Given the description of an element on the screen output the (x, y) to click on. 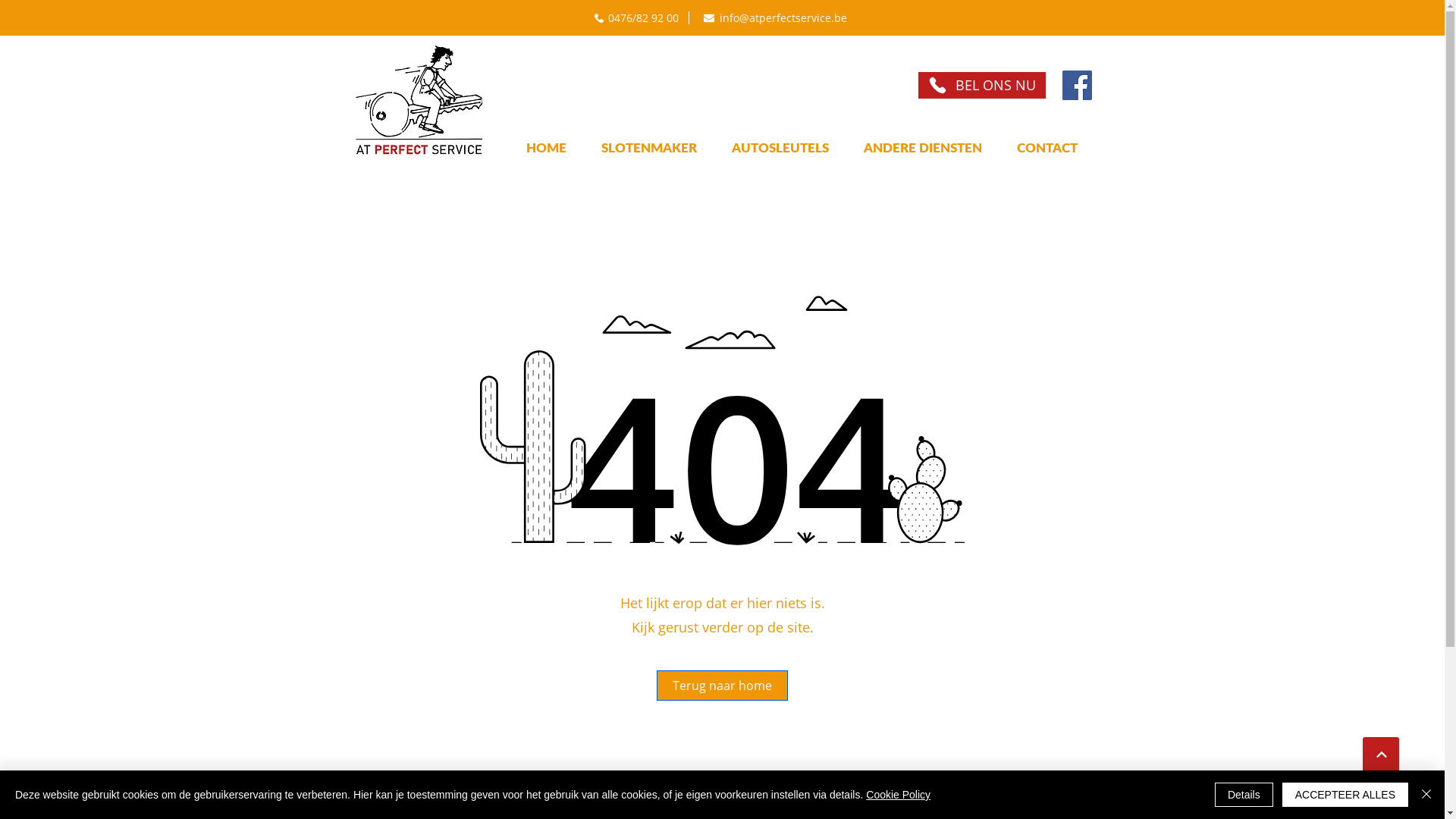
Terug naar home Element type: text (721, 685)
BEL ONS NU Element type: text (981, 85)
AUTOSLEUTELS Element type: text (779, 147)
CONTACT Element type: text (1047, 147)
Cookie Policy Element type: text (898, 794)
Details Element type: text (1243, 794)
0476/82 92 00 Element type: text (639, 17)
info@atperfectservice.be Element type: text (774, 17)
ACCEPTEER ALLES Element type: text (1345, 794)
ANDERE DIENSTEN Element type: text (922, 147)
HOME Element type: text (545, 147)
SLOTENMAKER Element type: text (648, 147)
